Given the description of an element on the screen output the (x, y) to click on. 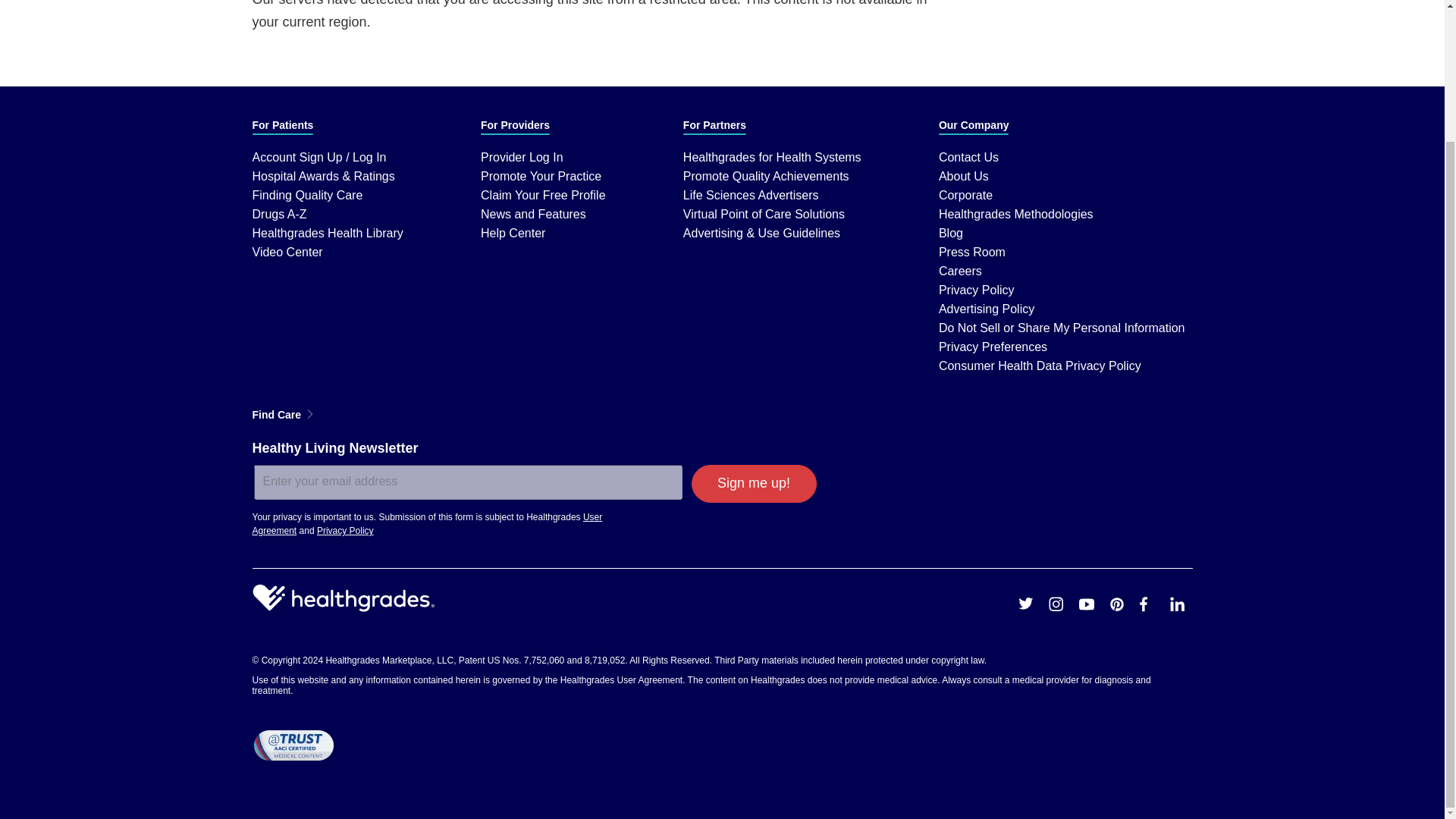
This website is certified by AACI. Click to verify. (293, 745)
